Given the description of an element on the screen output the (x, y) to click on. 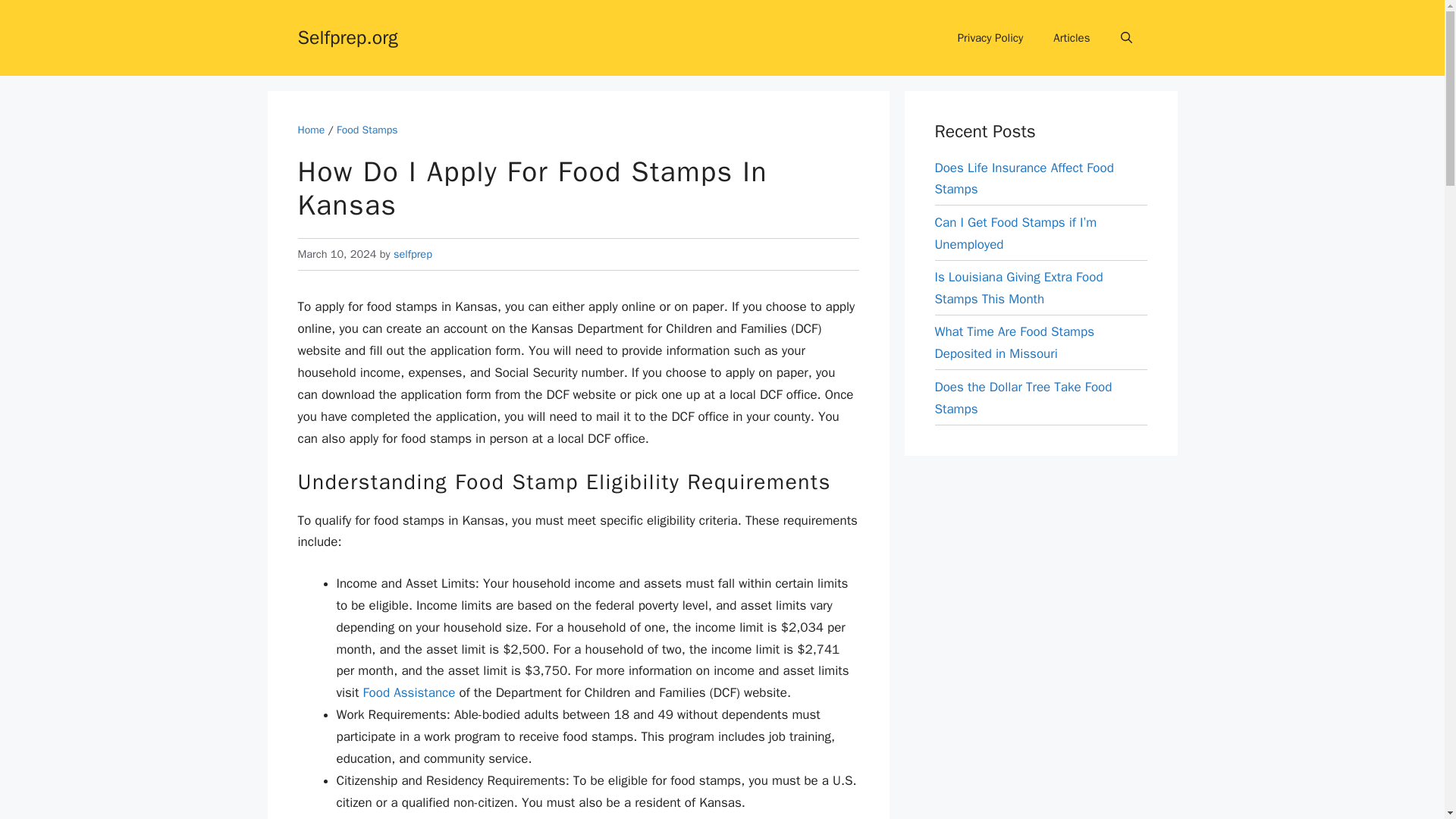
What Time Are Food Stamps Deposited in Missouri (1014, 342)
Is Louisiana Giving Extra Food Stamps This Month (1018, 288)
Does the Dollar Tree Take Food Stamps (1023, 397)
Food Assistance (408, 692)
Privacy Policy (990, 37)
Selfprep.org (347, 37)
selfprep (412, 254)
Does Life Insurance Affect Food Stamps (1023, 178)
Food Stamps (366, 129)
Home (310, 129)
Articles (1071, 37)
View all posts by selfprep (412, 254)
